Given the description of an element on the screen output the (x, y) to click on. 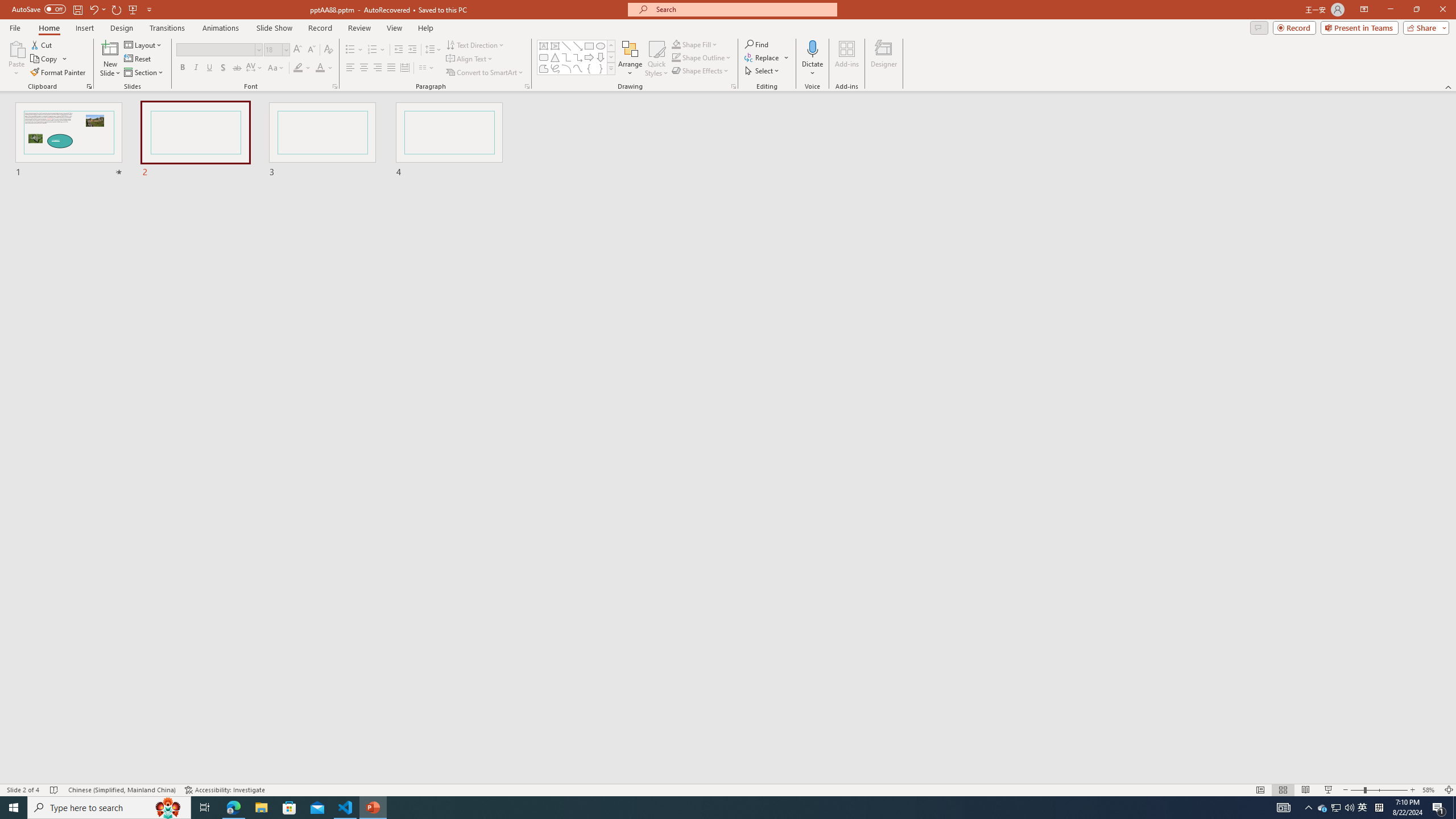
Shape Outline (701, 56)
Shape Effects (700, 69)
